Given the description of an element on the screen output the (x, y) to click on. 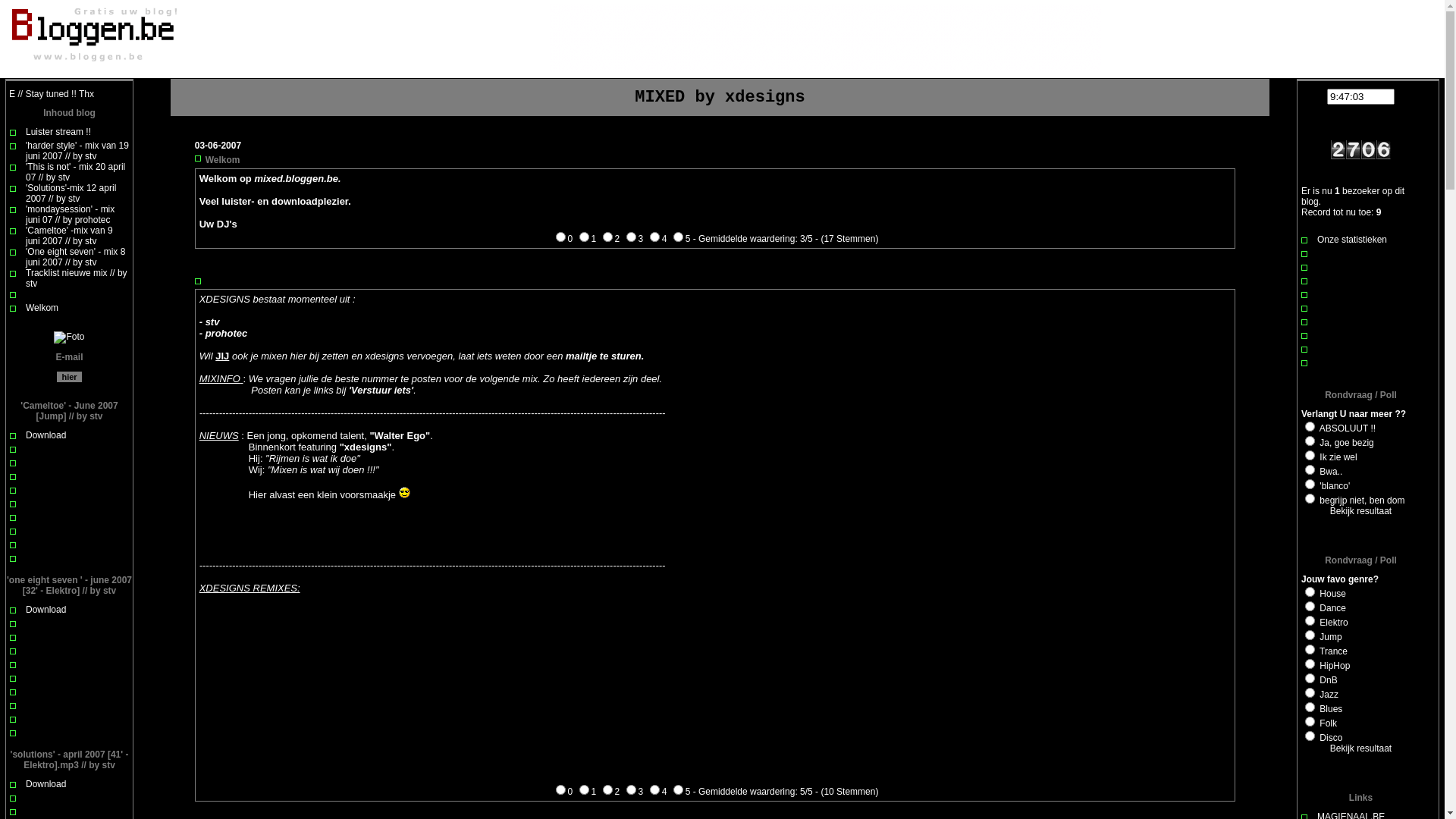
A3 Element type: text (1309, 620)
1 Element type: text (584, 789)
'Solutions'-mix 12 april 2007 // by stv Element type: text (70, 192)
Tracklist nieuwe mix // by stv Element type: text (76, 277)
A4 Element type: text (1309, 469)
Download Element type: text (45, 434)
Luister stream !! Element type: text (58, 131)
4 Element type: text (654, 789)
5 Element type: text (678, 789)
A9 Element type: text (1309, 707)
2 Element type: text (607, 789)
A1 Element type: text (1309, 591)
2 Element type: text (607, 236)
'mondaysession' - mix juni 07 // by prohotec Element type: text (69, 214)
A5 Element type: text (1309, 649)
A3 Element type: text (1309, 455)
A2 Element type: text (1309, 606)
A5 Element type: text (1309, 484)
3rd party ad content Element type: hover (825, 37)
'harder style' - mix van 19 juni 2007 // by stv Element type: text (76, 150)
A11 Element type: text (1309, 735)
Download Element type: text (45, 609)
3 Element type: text (631, 236)
A8 Element type: text (1309, 692)
A7 Element type: text (1309, 678)
'Cameltoe' -mix van 9 juni 2007 // by stv Element type: text (68, 235)
'This is not' - mix 20 april 07 // by stv Element type: text (75, 171)
4 Element type: text (654, 236)
hier Element type: text (68, 376)
5 Element type: text (678, 236)
A1 Element type: text (1309, 426)
Welkom Element type: text (41, 307)
Bekijk resultaat Element type: text (1360, 510)
A10 Element type: text (1309, 721)
'One eight seven' - mix 8 juni 2007 // by stv Element type: text (75, 256)
0 Element type: text (560, 789)
0 Element type: text (560, 236)
A4 Element type: text (1309, 635)
Onze statistieken Element type: text (1351, 239)
Bekijk resultaat Element type: text (1360, 748)
A2 Element type: text (1309, 440)
1 Element type: text (584, 236)
A6 Element type: text (1309, 663)
A6 Element type: text (1309, 498)
Download Element type: text (45, 783)
3 Element type: text (631, 789)
